Given the description of an element on the screen output the (x, y) to click on. 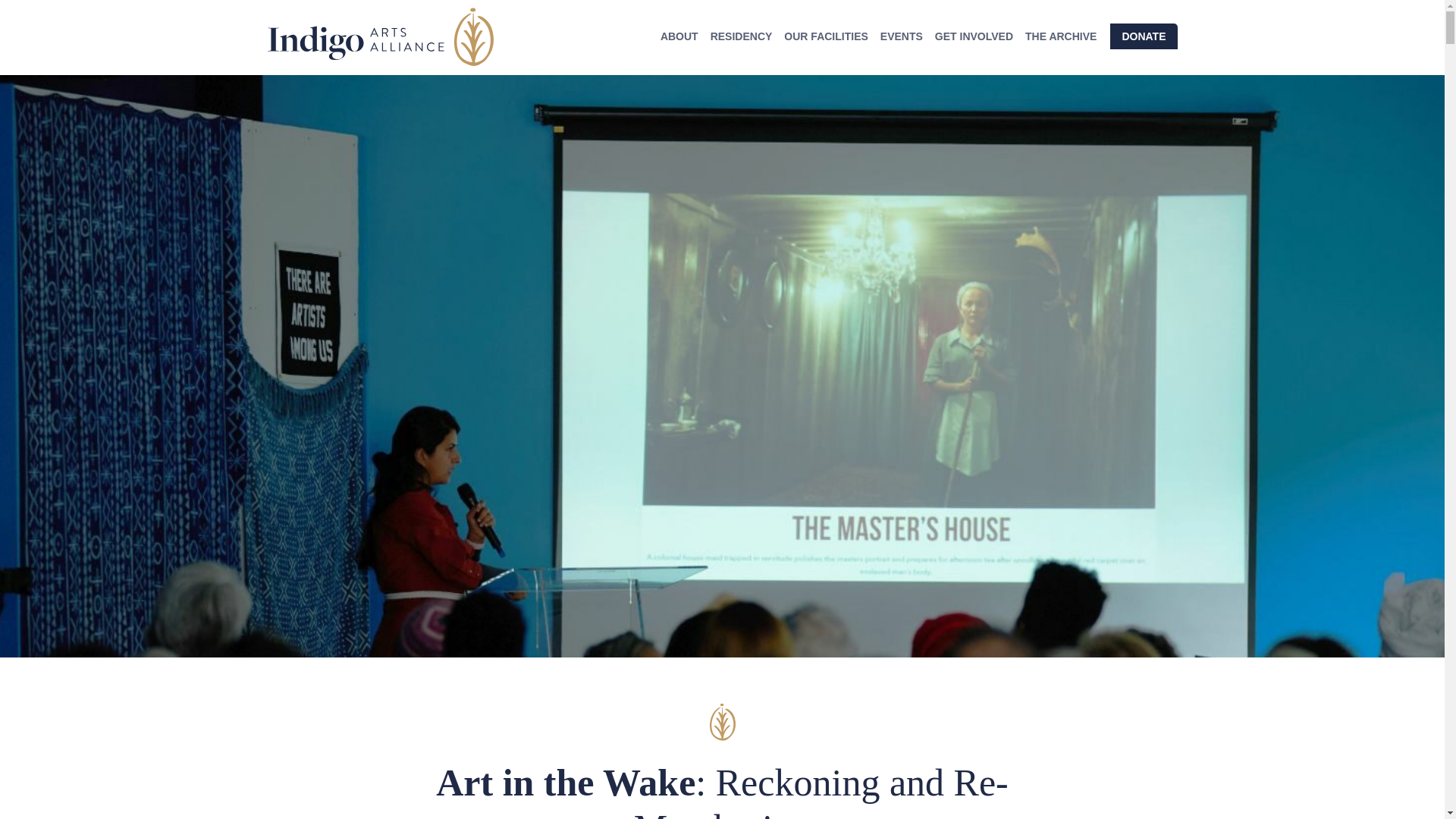
RESIDENCY (741, 37)
EVENTS (901, 37)
ABOUT (678, 37)
DONATE (1142, 36)
GET INVOLVED (973, 37)
OUR FACILITIES (825, 37)
THE ARCHIVE (1060, 37)
